Given the description of an element on the screen output the (x, y) to click on. 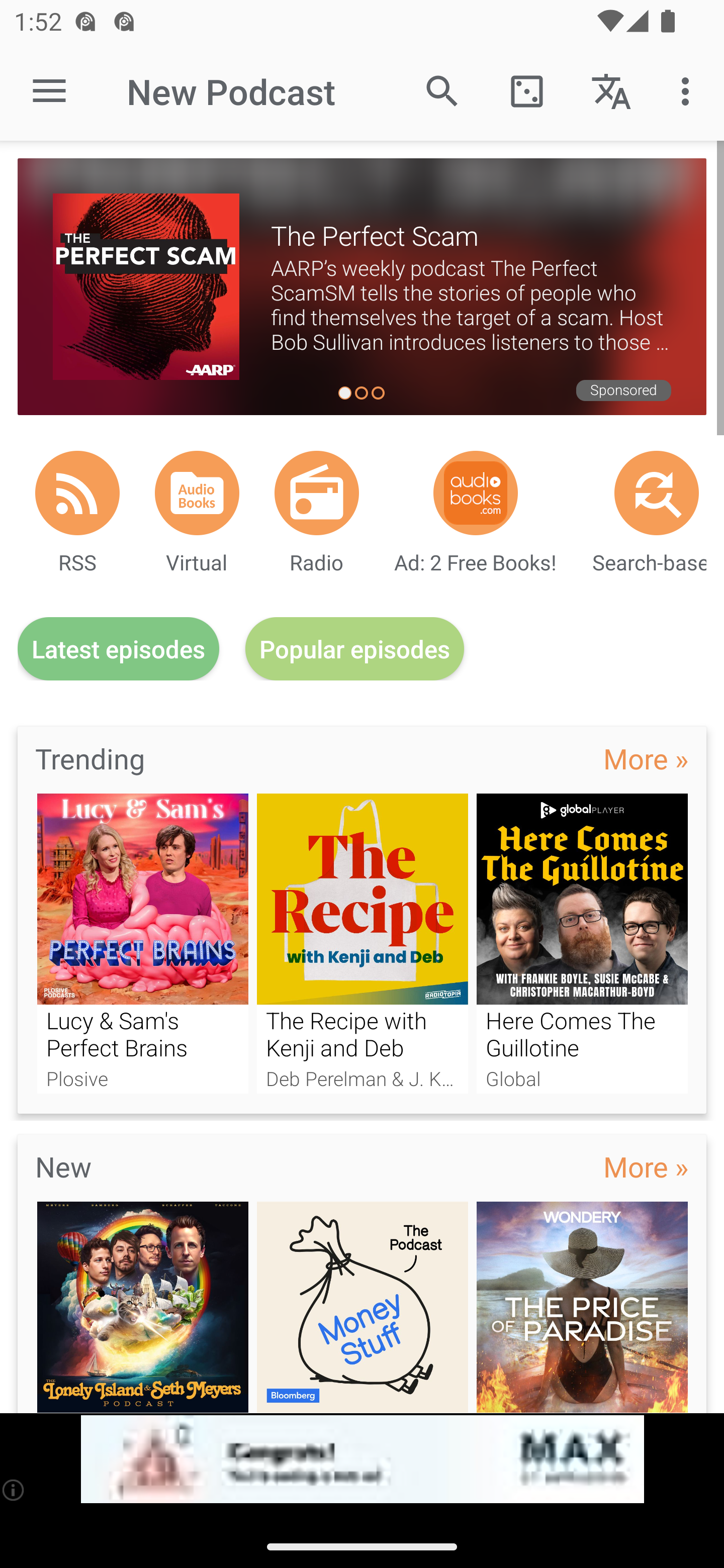
Open navigation sidebar (49, 91)
Search (442, 90)
Random pick (526, 90)
Podcast languages (611, 90)
More options (688, 90)
RSS (77, 492)
Virtual (196, 492)
Radio (316, 492)
Search-based (656, 492)
Latest episodes (118, 648)
Popular episodes (354, 648)
More » (645, 757)
Lucy & Sam's Perfect Brains Plosive (142, 942)
Here Comes The Guillotine Global (581, 942)
More » (645, 1166)
The Lonely Island and Seth Meyers Podcast (142, 1306)
Money Stuff: The Podcast (362, 1306)
The Price of Paradise (581, 1306)
app-monetization (362, 1459)
(i) (14, 1489)
